Given the description of an element on the screen output the (x, y) to click on. 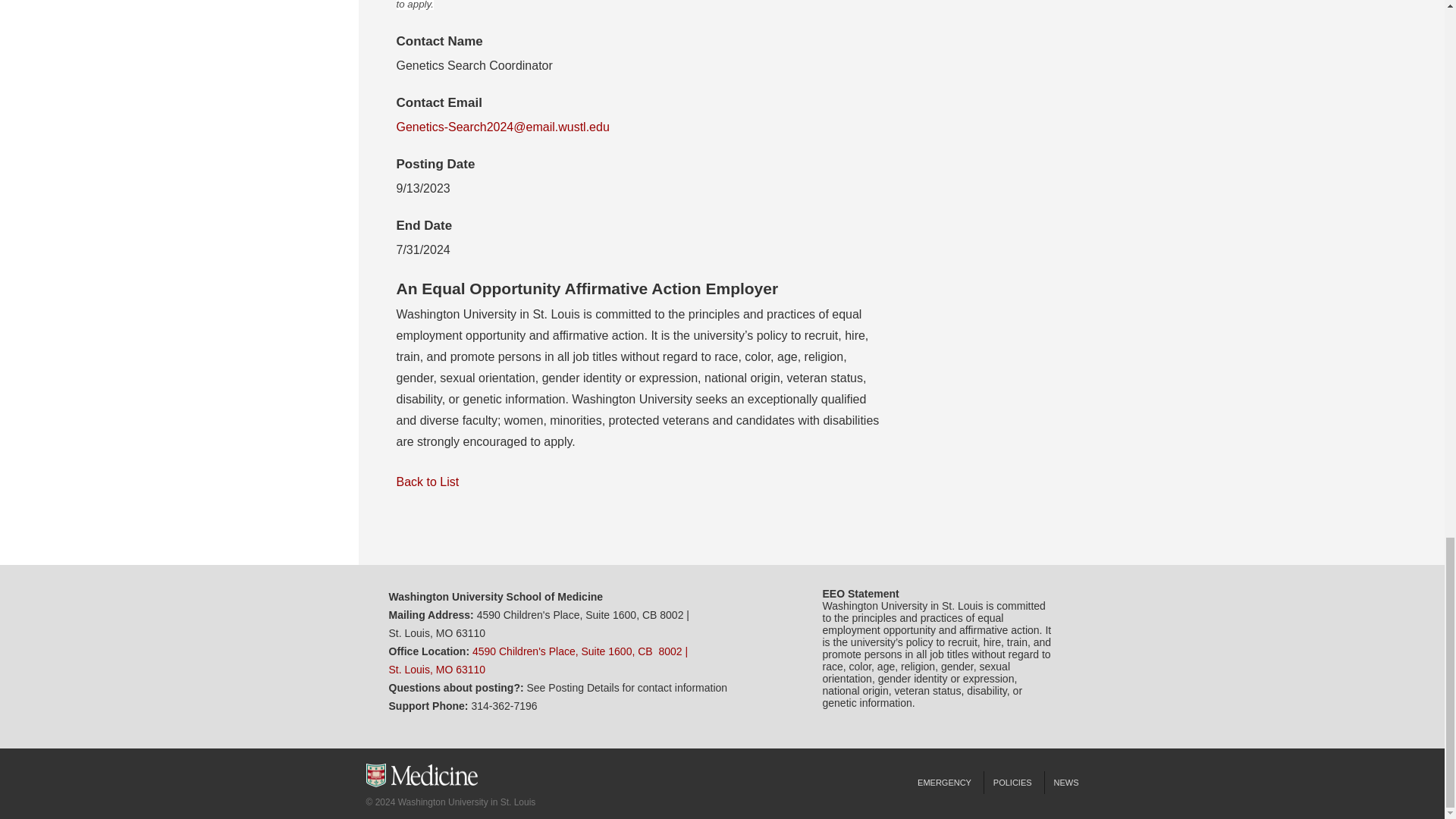
Back to List (427, 481)
NEWS (1060, 782)
POLICIES (1012, 782)
Map (537, 660)
EMERGENCY (943, 782)
